Given the description of an element on the screen output the (x, y) to click on. 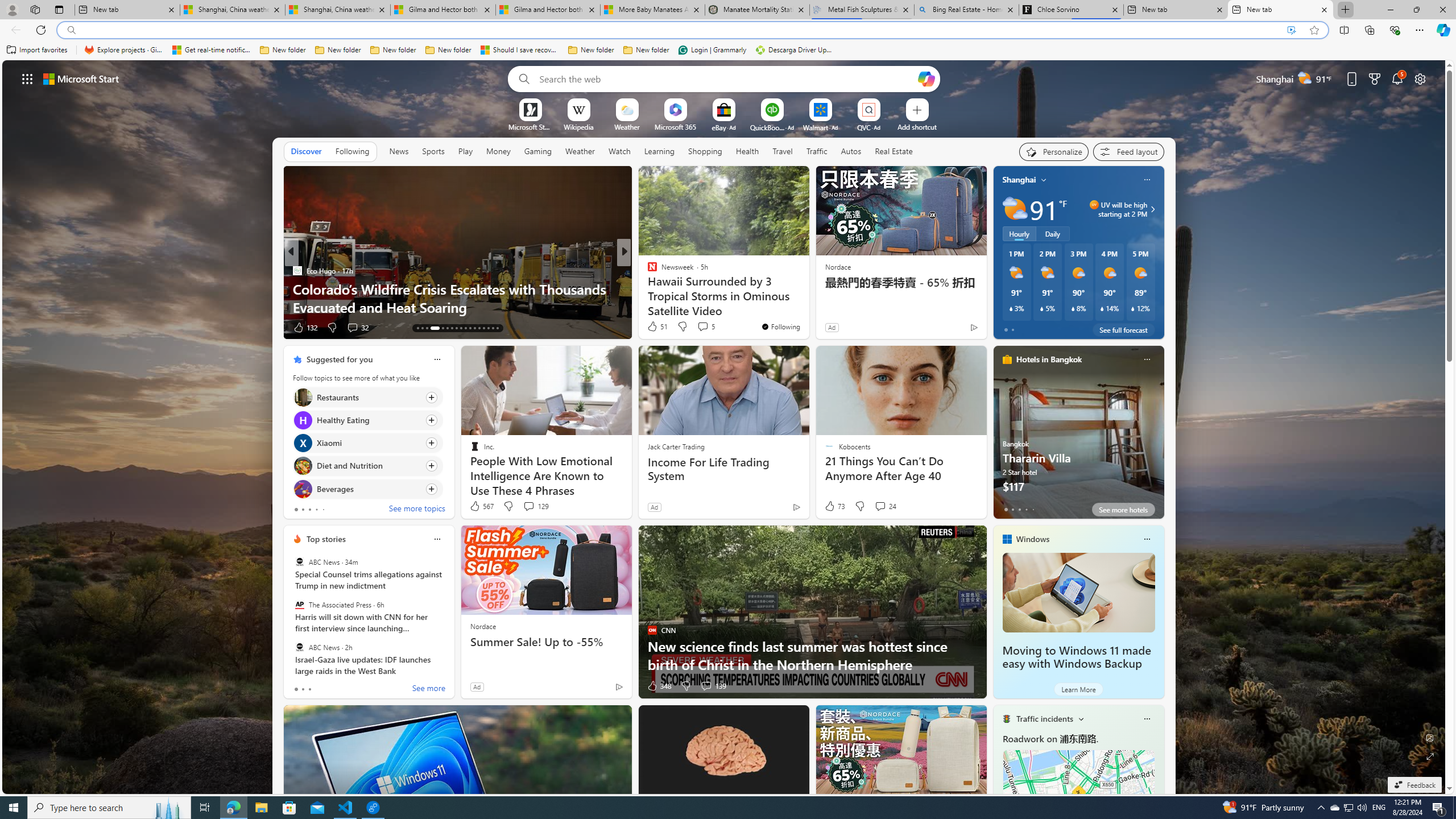
View comments 7 Comment (702, 327)
9 Like (651, 327)
Wikipedia (578, 126)
View comments 24 Comment (885, 505)
Suggested for you (338, 359)
View comments 35 Comment (6, 327)
Windows (1032, 538)
Jack Carter Trading (675, 446)
AutomationID: tab-22 (446, 328)
Microsoft start (81, 78)
